Given the description of an element on the screen output the (x, y) to click on. 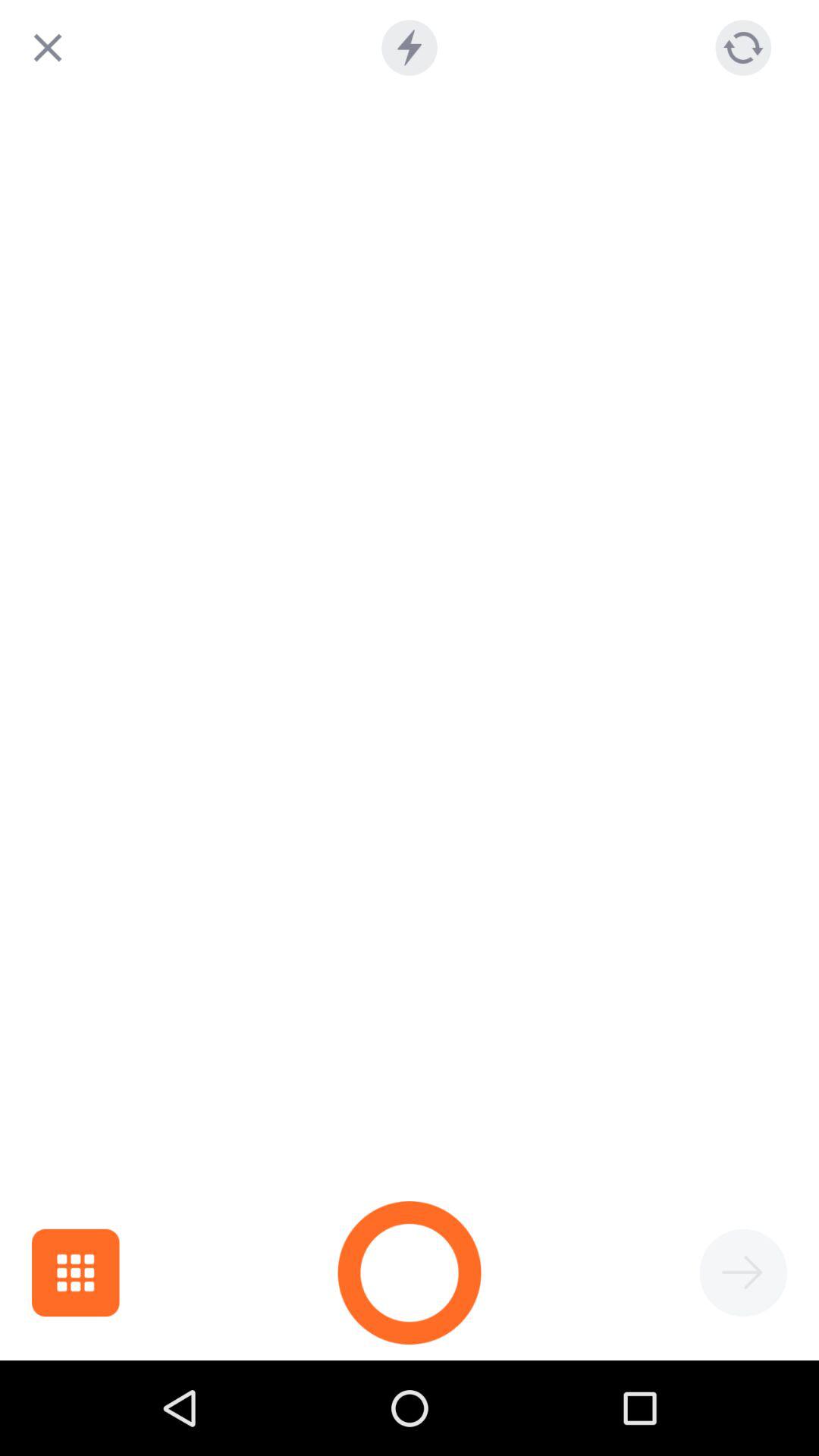
go to next (743, 1272)
